Given the description of an element on the screen output the (x, y) to click on. 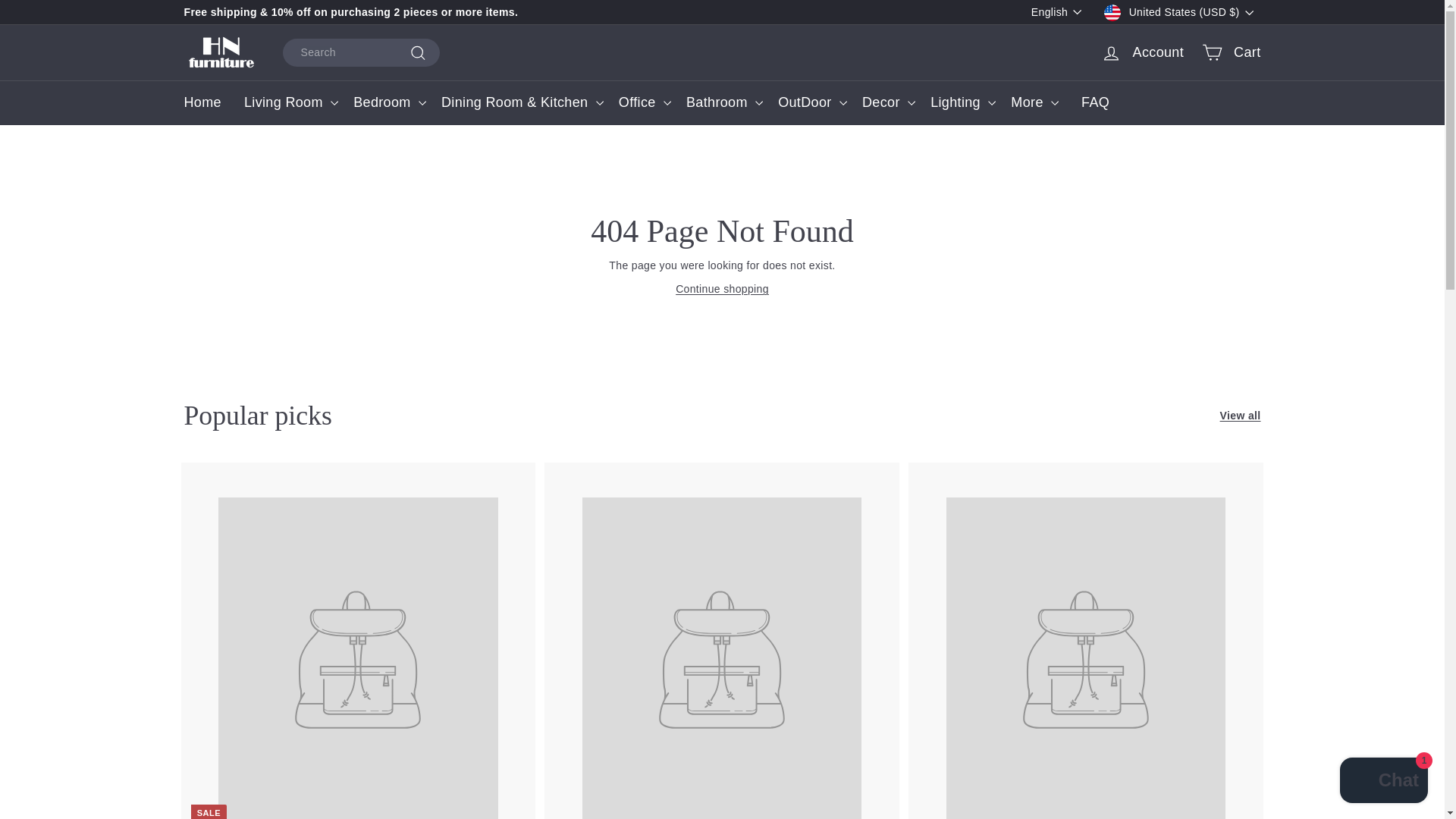
Cart (1230, 53)
Account (1142, 52)
Shopify online store chat (1383, 781)
English (1059, 12)
